Given the description of an element on the screen output the (x, y) to click on. 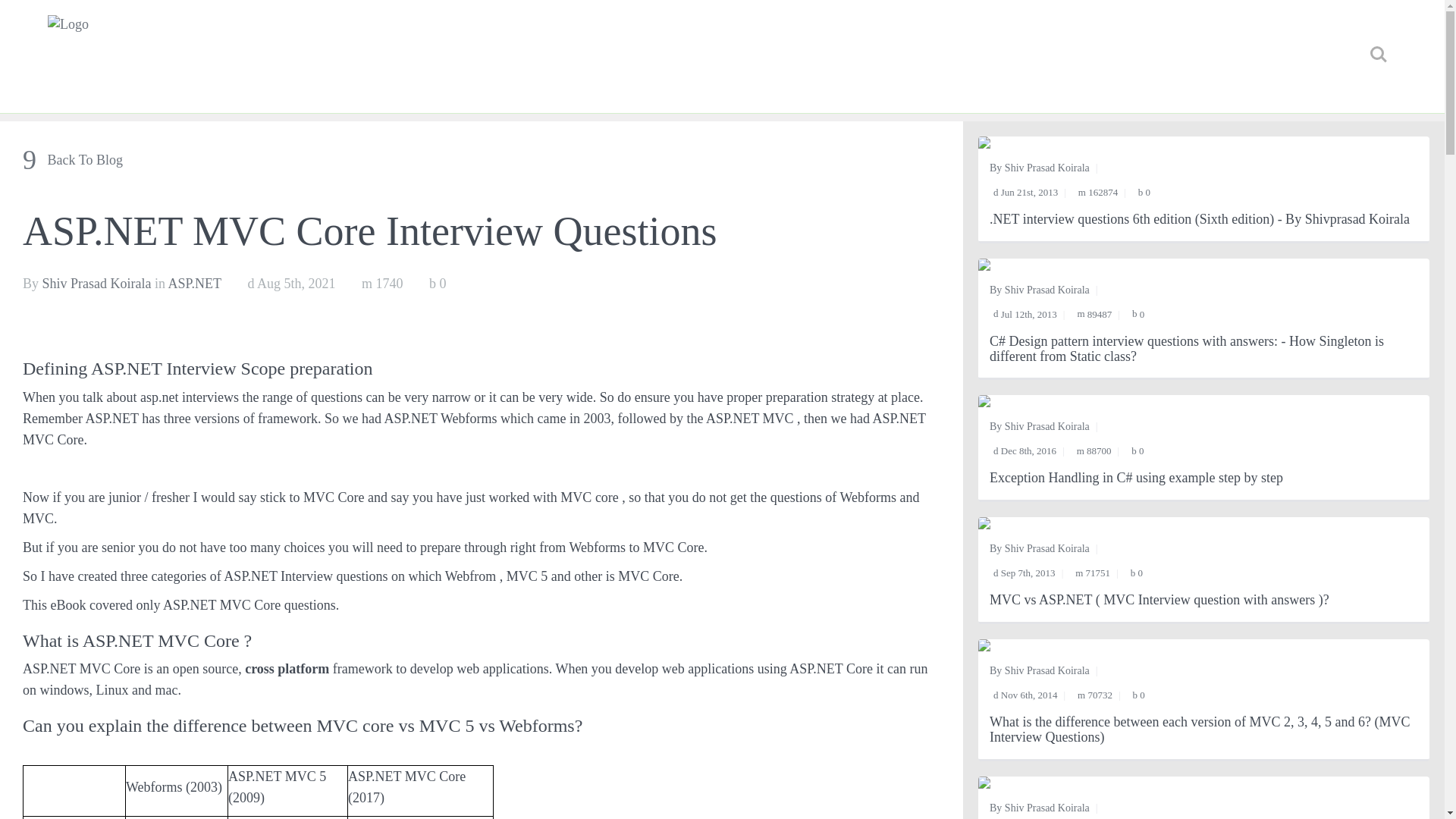
Total Views (1093, 573)
Total Comments (1137, 450)
Shiv Prasad Koirala (96, 283)
Total Views (1098, 192)
Date of Post (291, 283)
Total Views (1095, 695)
Date of Post (1025, 314)
0 (437, 283)
Shiv Prasad Koirala (1046, 670)
Search (1377, 54)
